Given the description of an element on the screen output the (x, y) to click on. 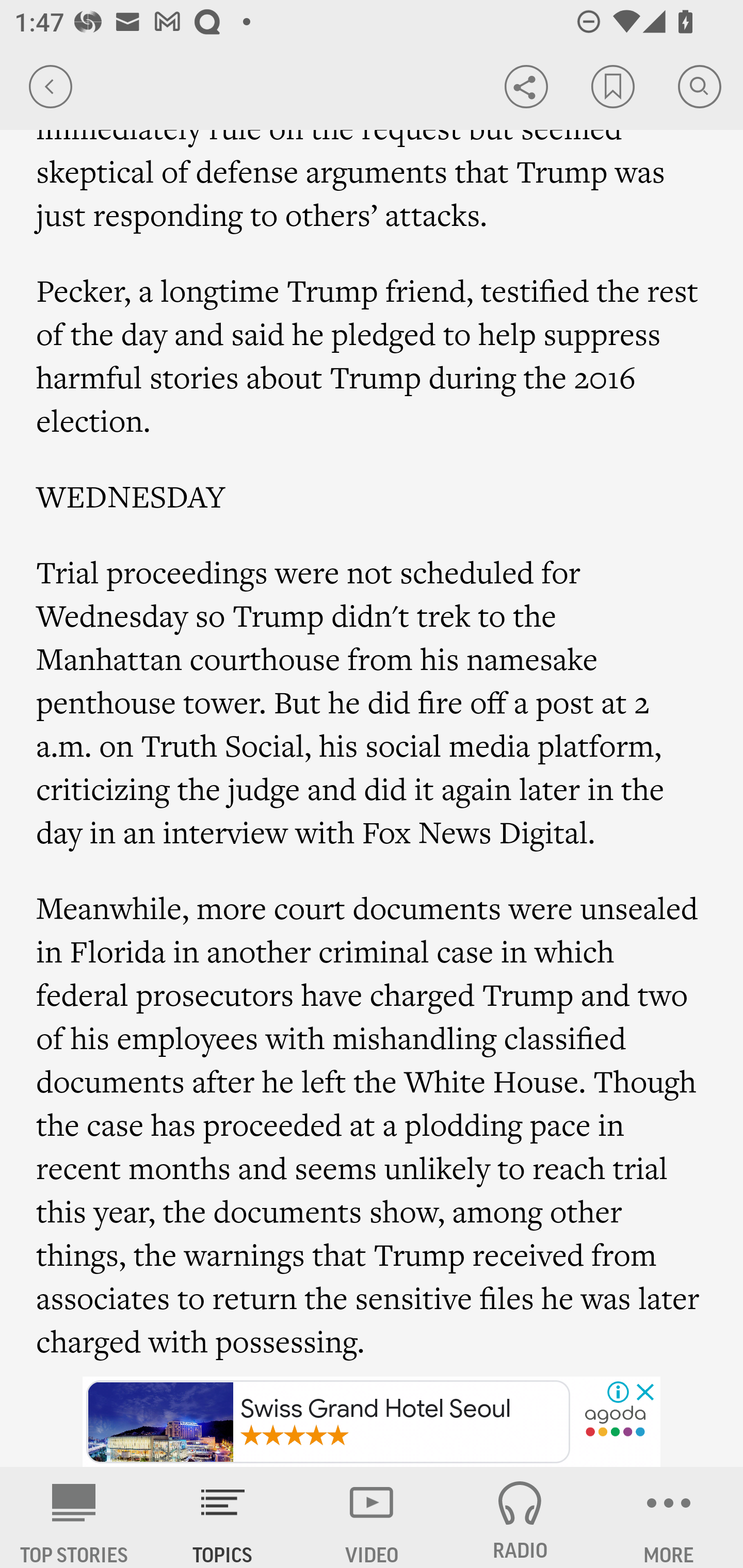
Swiss Grand Hotel Seoul (327, 1421)
partnersearch (615, 1422)
AP News TOP STORIES (74, 1517)
TOPICS (222, 1517)
VIDEO (371, 1517)
RADIO (519, 1517)
MORE (668, 1517)
